Given the description of an element on the screen output the (x, y) to click on. 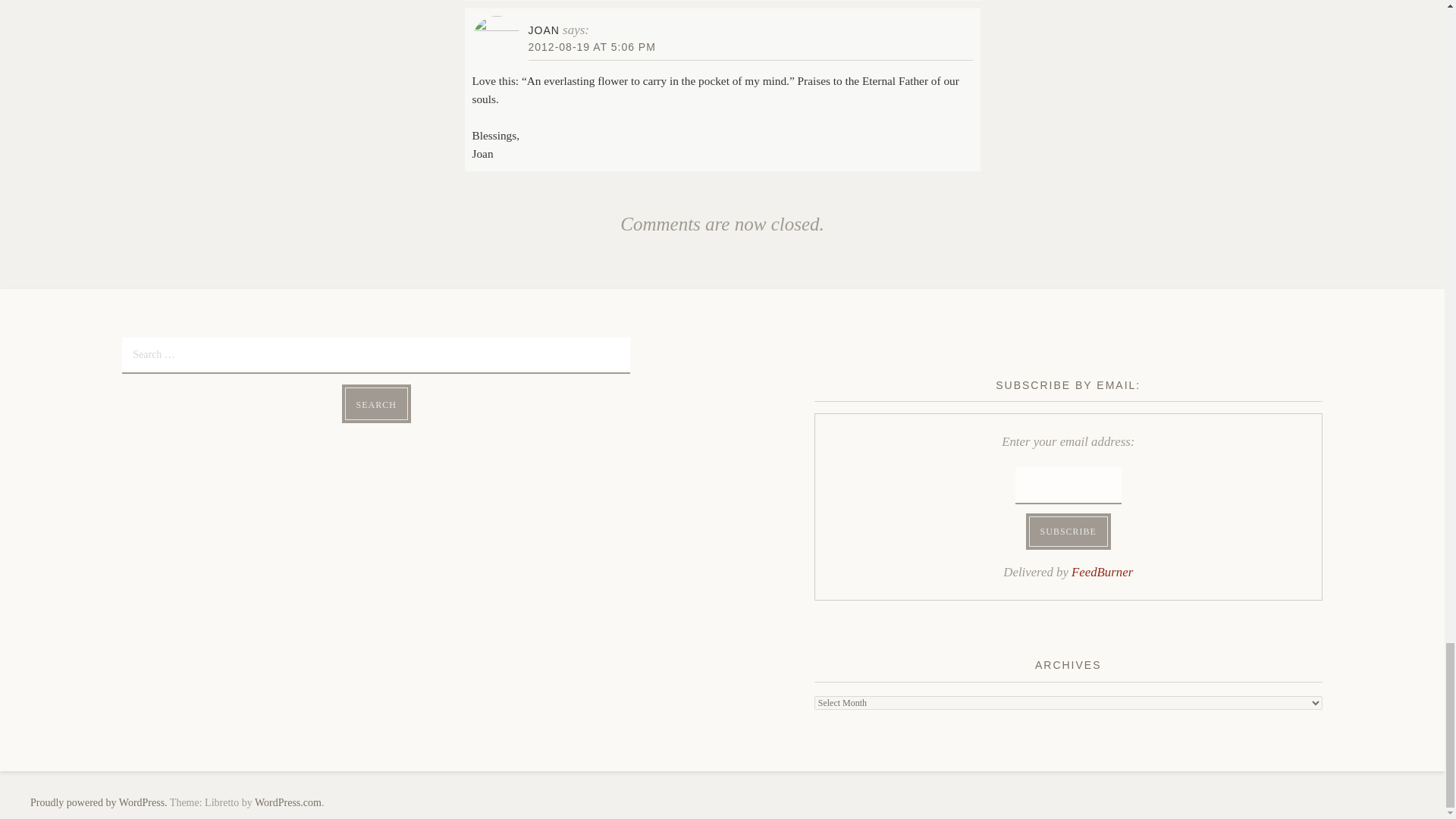
Subscribe (1068, 531)
Search (376, 403)
Proudly powered by WordPress. (98, 802)
Subscribe (1068, 531)
WordPress.com (287, 802)
Search (376, 403)
FeedBurner (1101, 572)
2012-08-19 AT 5:06 PM (591, 46)
JOAN (543, 30)
Search (376, 403)
